Given the description of an element on the screen output the (x, y) to click on. 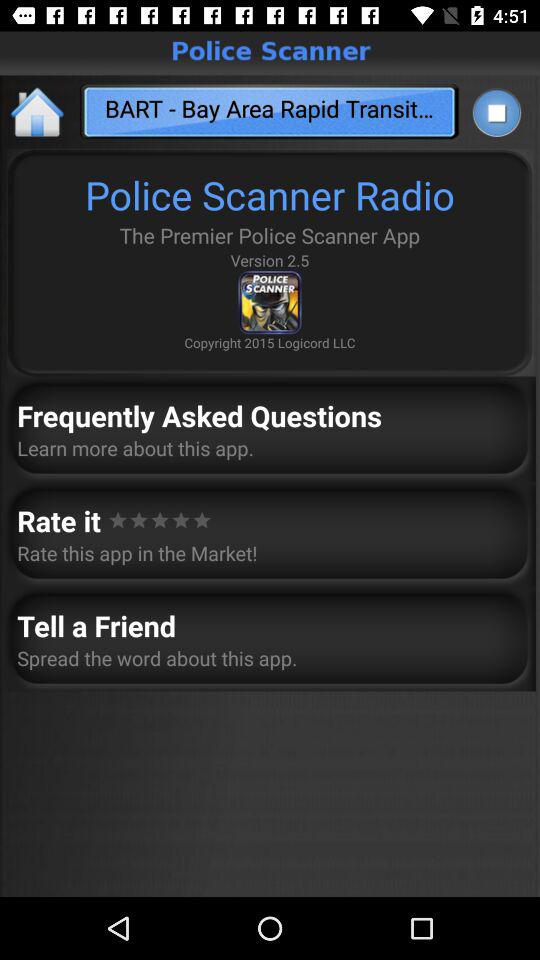
press item at the top right corner (496, 111)
